Given the description of an element on the screen output the (x, y) to click on. 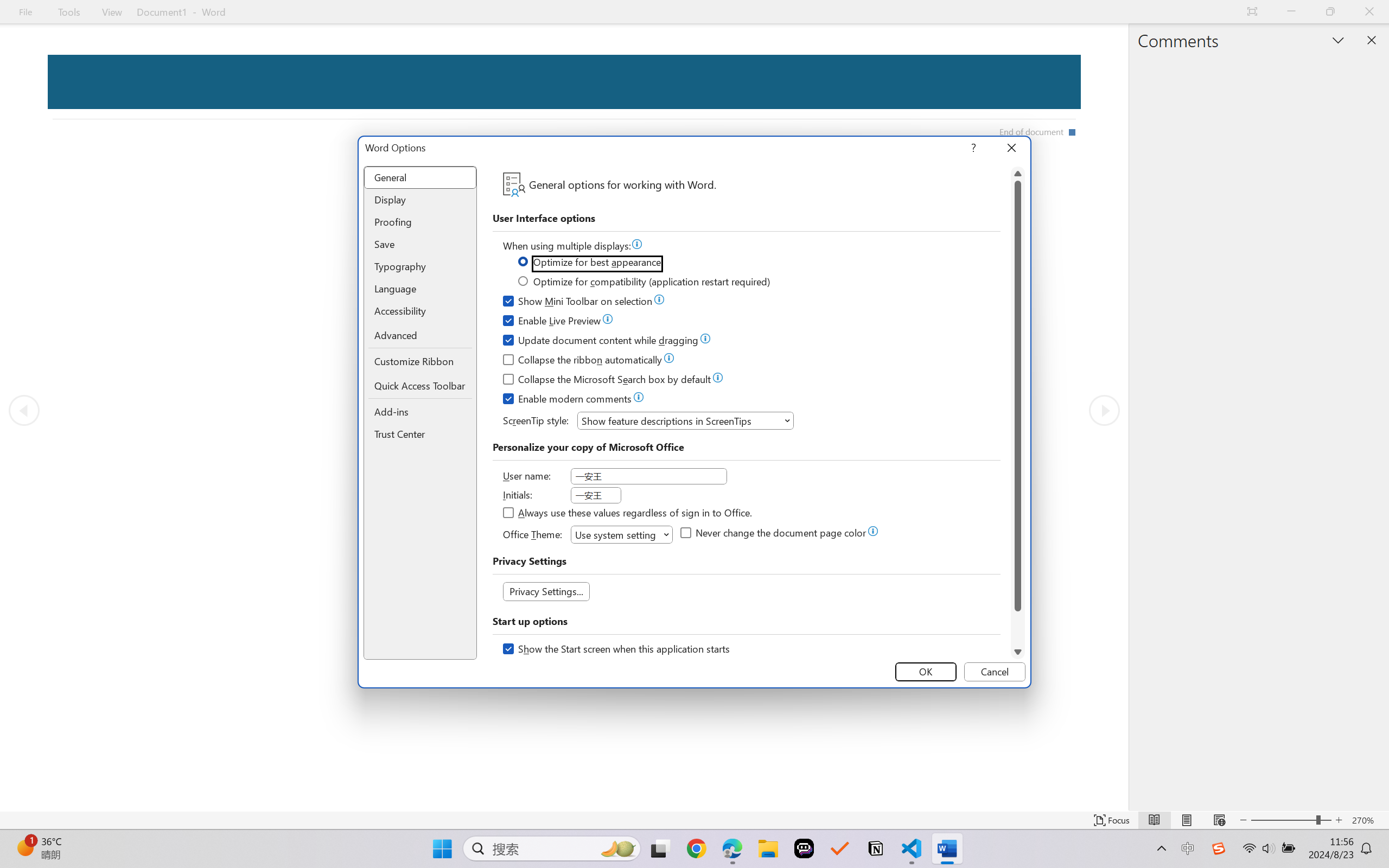
Auto-hide Reading Toolbar (1252, 11)
Show the Start screen when this application starts (617, 650)
Decrease Text Size (1243, 819)
Always use these values regardless of sign in to Office. (628, 514)
Line up (1018, 173)
Collapse the ribbon automatically (582, 361)
Customize Ribbon (419, 361)
Add-ins (419, 412)
Increase Text Size (1338, 819)
Display (419, 199)
